Given the description of an element on the screen output the (x, y) to click on. 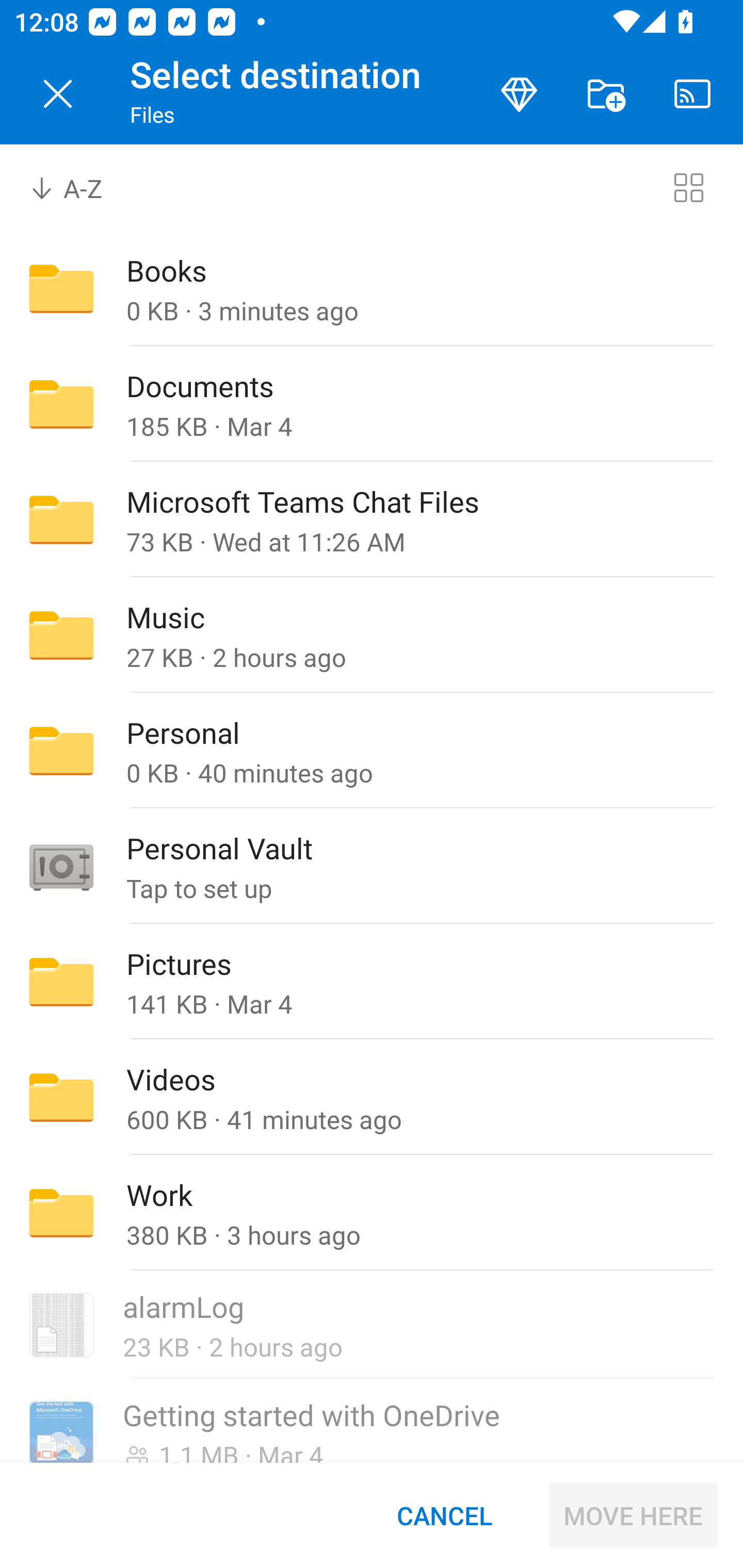
Close (57, 93)
Cast. Disconnected (692, 93)
Premium button (518, 93)
More actions button (605, 93)
A-Z Sort by combo box, sort by name, A to Z (80, 187)
Switch to tiles view (688, 187)
Folder Books 0 KB · 3 minutes ago (371, 288)
Folder Documents 185 KB · Mar 4 (371, 404)
Folder Music 27 KB · 2 hours ago (371, 635)
Folder Personal 0 KB · 40 minutes ago (371, 751)
Folder Personal Vault Tap to set up (371, 866)
Folder Pictures 141 KB · Mar 4 (371, 981)
Folder Videos 600 KB · 41 minutes ago (371, 1097)
Folder Work 380 KB · 3 hours ago (371, 1213)
Document alarmLog 23 KB · 2 hours ago (371, 1325)
CANCEL (443, 1515)
MOVE HERE (633, 1515)
